Given the description of an element on the screen output the (x, y) to click on. 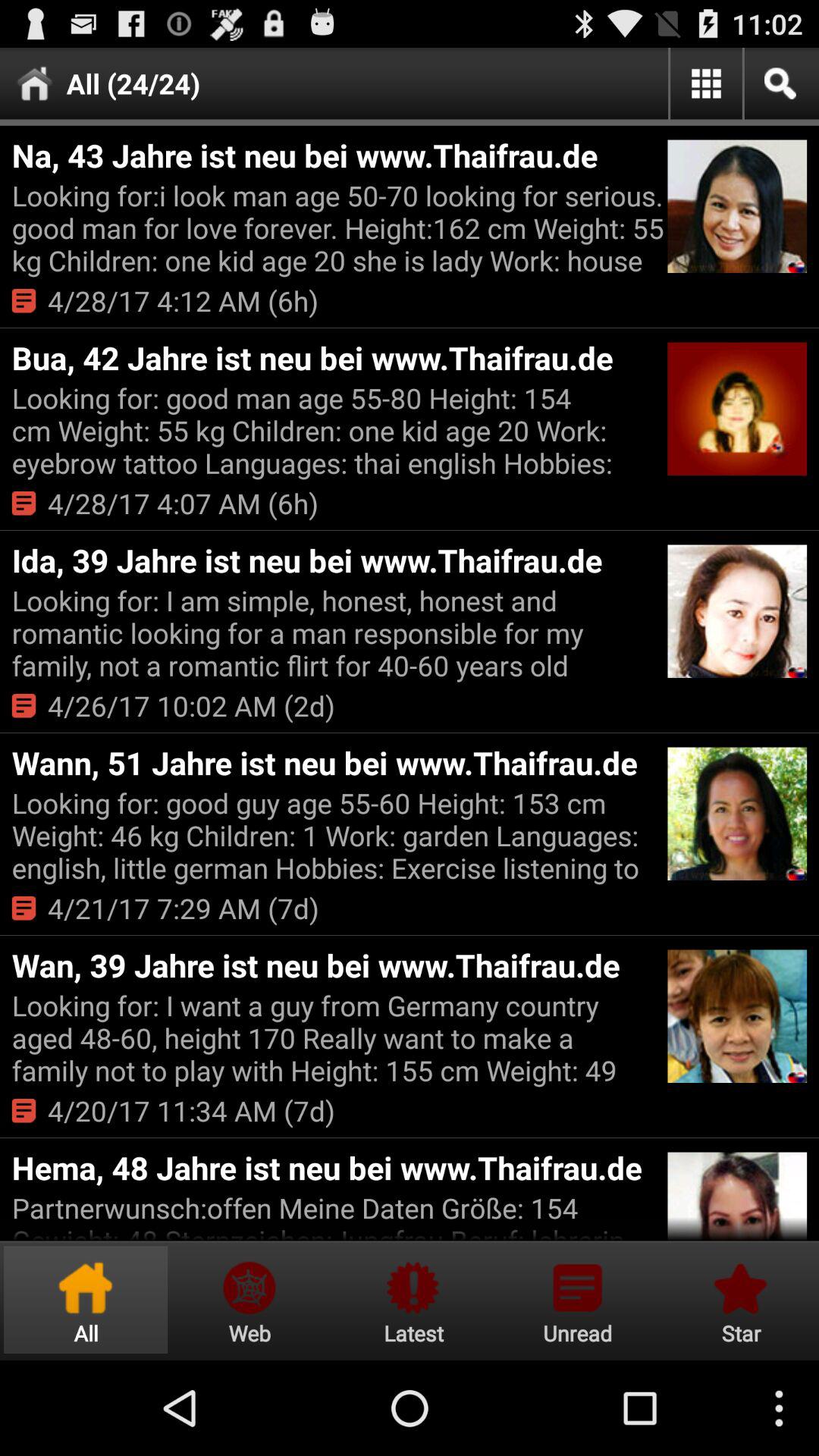
jump until partnerwunsch offen meine item (337, 1215)
